Given the description of an element on the screen output the (x, y) to click on. 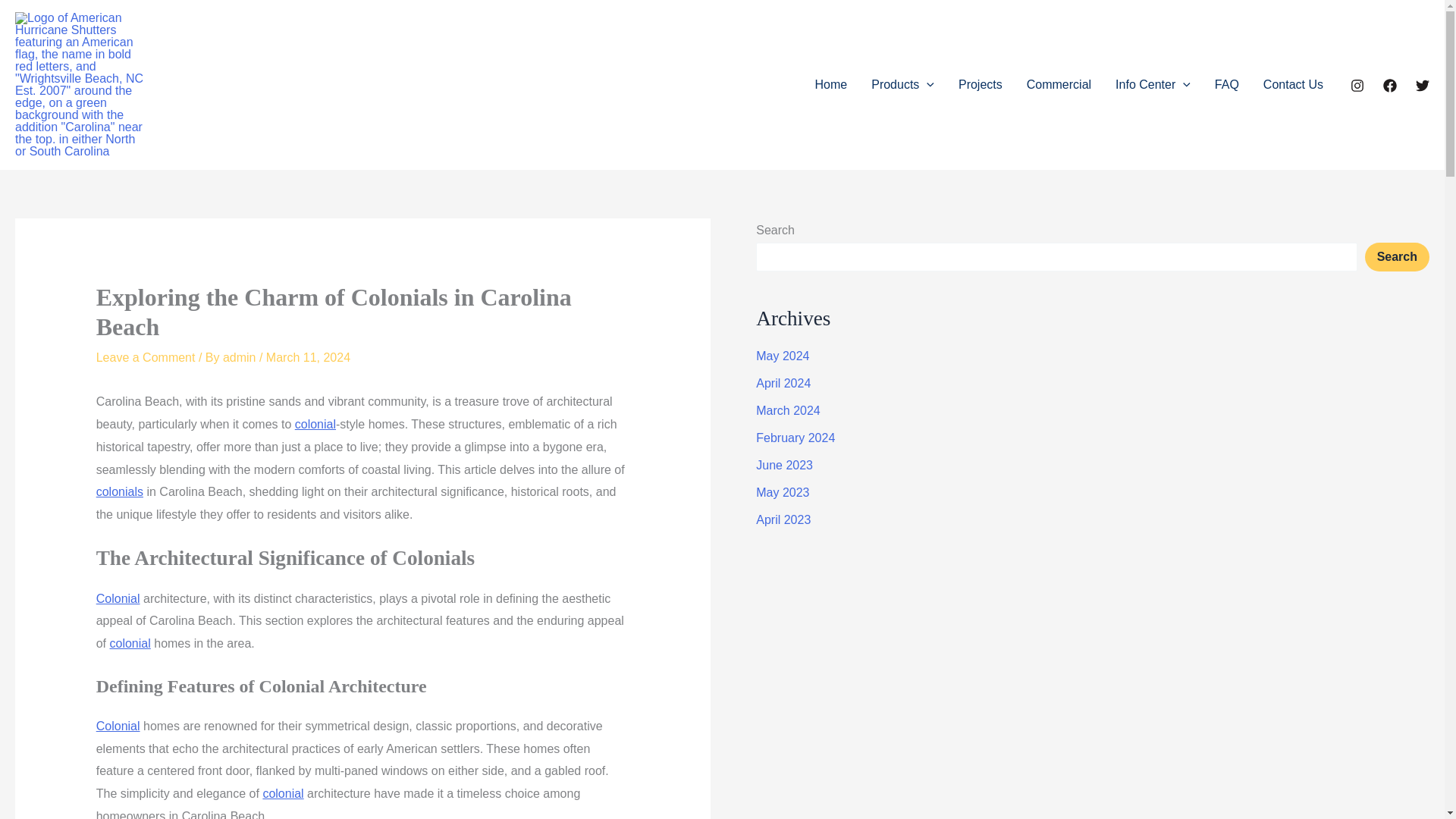
Contact Us (1292, 84)
View all posts by admin (240, 357)
Info Center (1152, 84)
Products (902, 84)
Commercial (1058, 84)
